Given the description of an element on the screen output the (x, y) to click on. 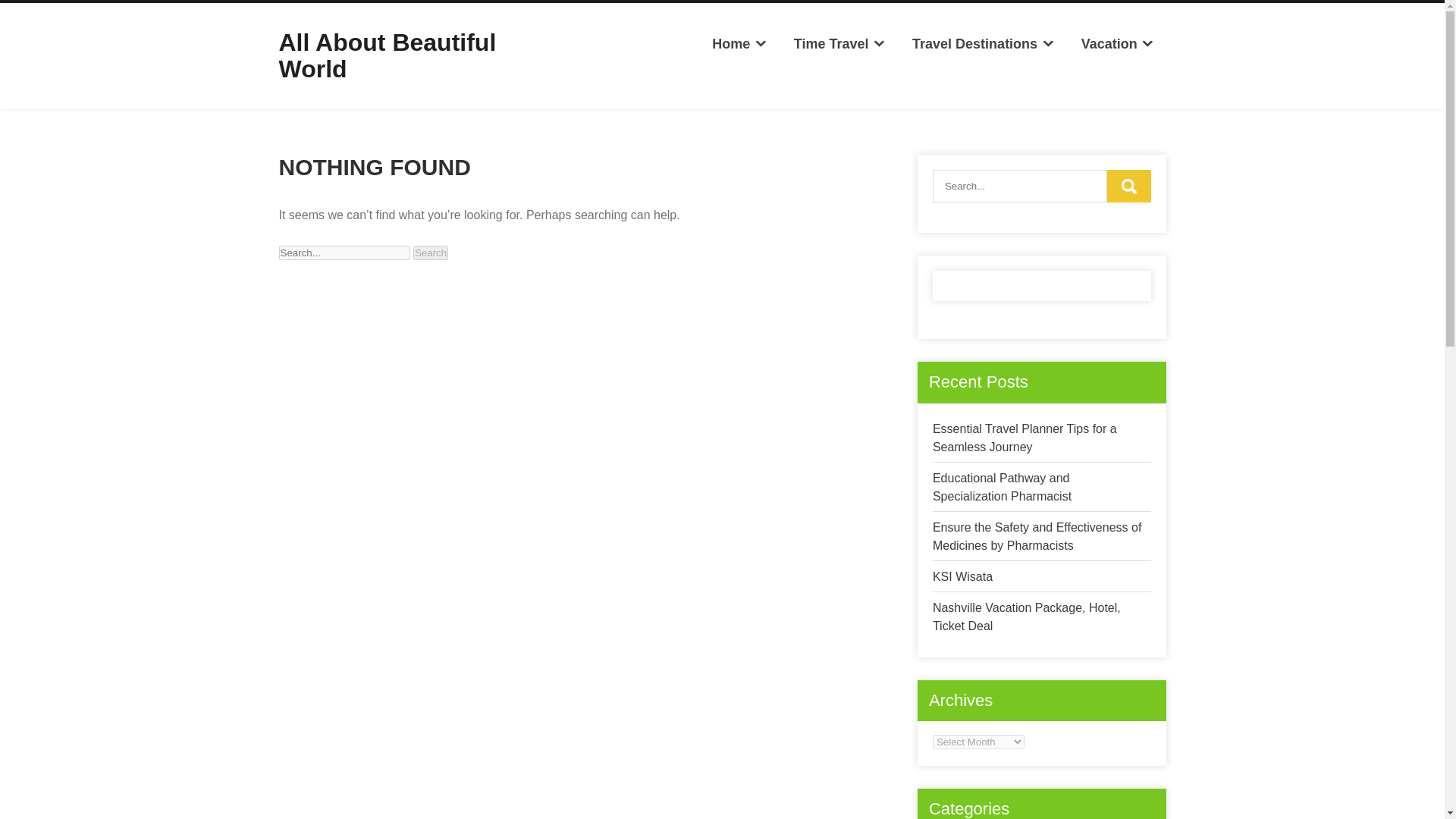
Nashville Vacation Package, Hotel, Ticket Deal (1027, 616)
Search (430, 252)
Travel Destinations (983, 44)
All About Beautiful World (387, 55)
Search (1128, 185)
Vacation (1117, 44)
Essential Travel Planner Tips for a Seamless Journey (1024, 437)
Search (1128, 185)
KSI Wisata (962, 576)
Home (739, 44)
Search (430, 252)
Search (430, 252)
Time Travel (838, 44)
Search (1128, 185)
